Given the description of an element on the screen output the (x, y) to click on. 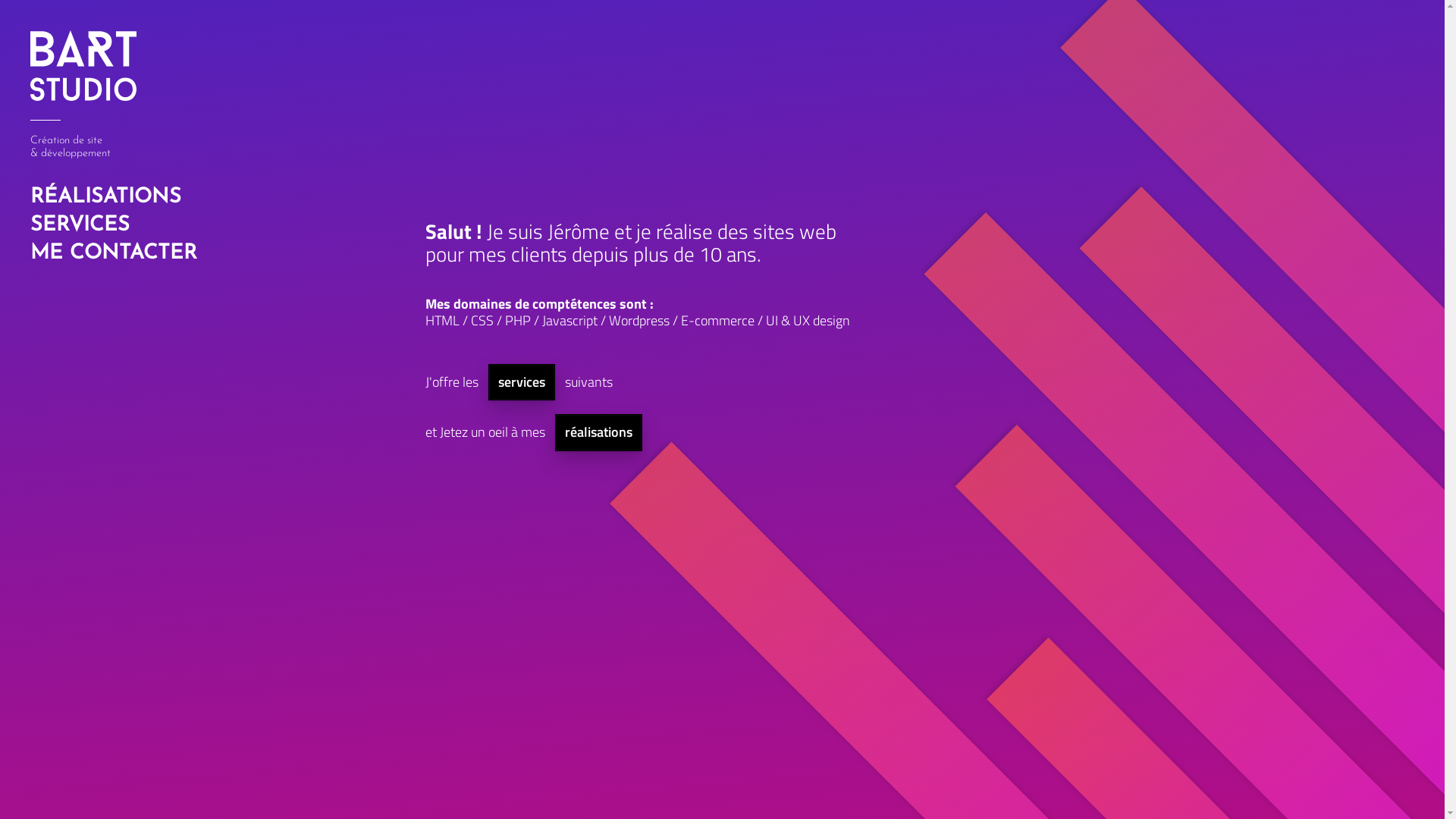
SERVICES Element type: text (111, 225)
ME CONTACTER Element type: text (111, 253)
services Element type: text (521, 382)
